Given the description of an element on the screen output the (x, y) to click on. 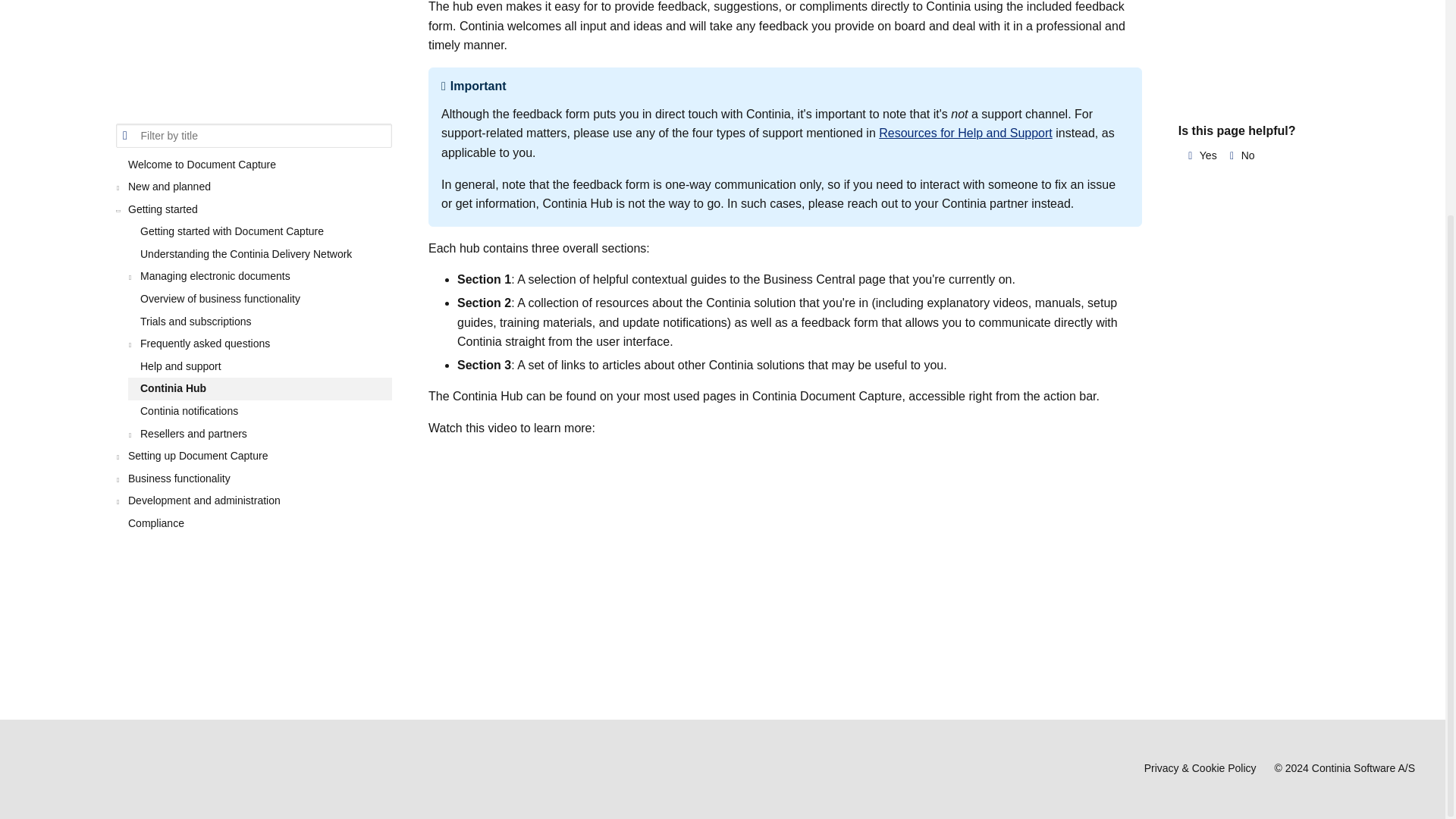
Continia Hub Contexual Support (640, 556)
